Given the description of an element on the screen output the (x, y) to click on. 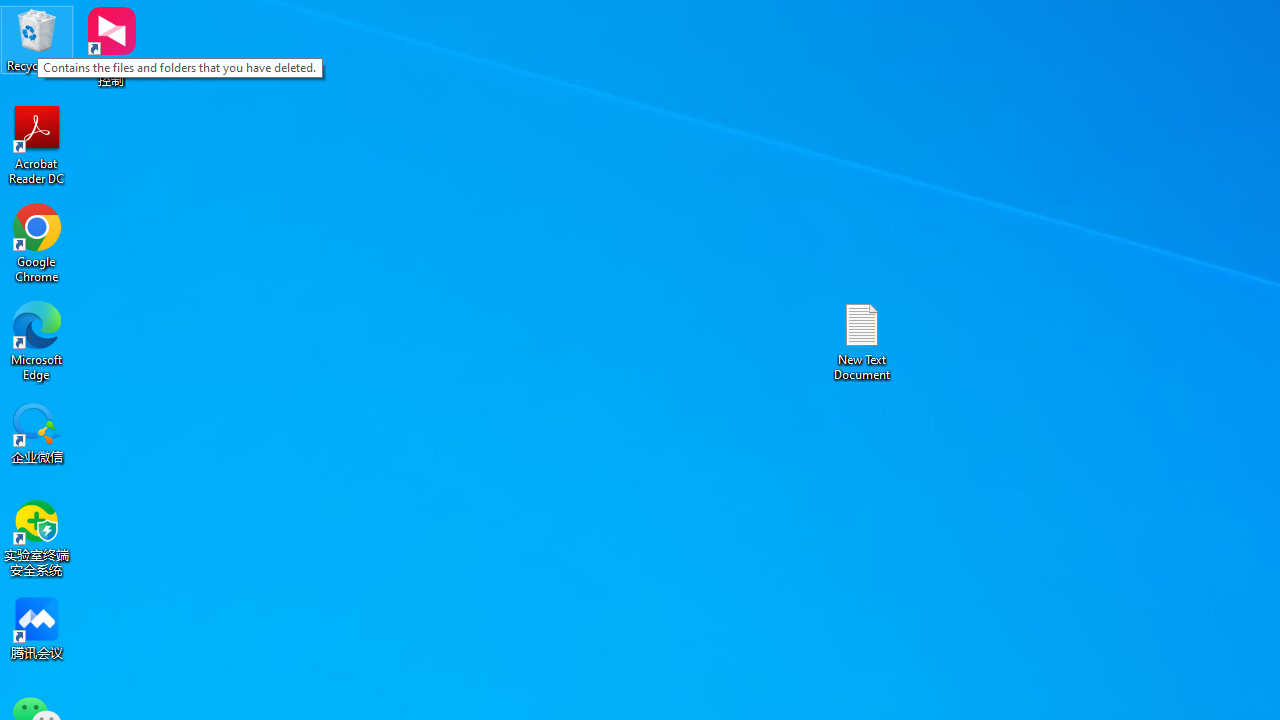
New Text Document (861, 340)
Recycle Bin (37, 39)
Microsoft Edge (37, 340)
Acrobat Reader DC (37, 144)
Google Chrome (37, 242)
